Given the description of an element on the screen output the (x, y) to click on. 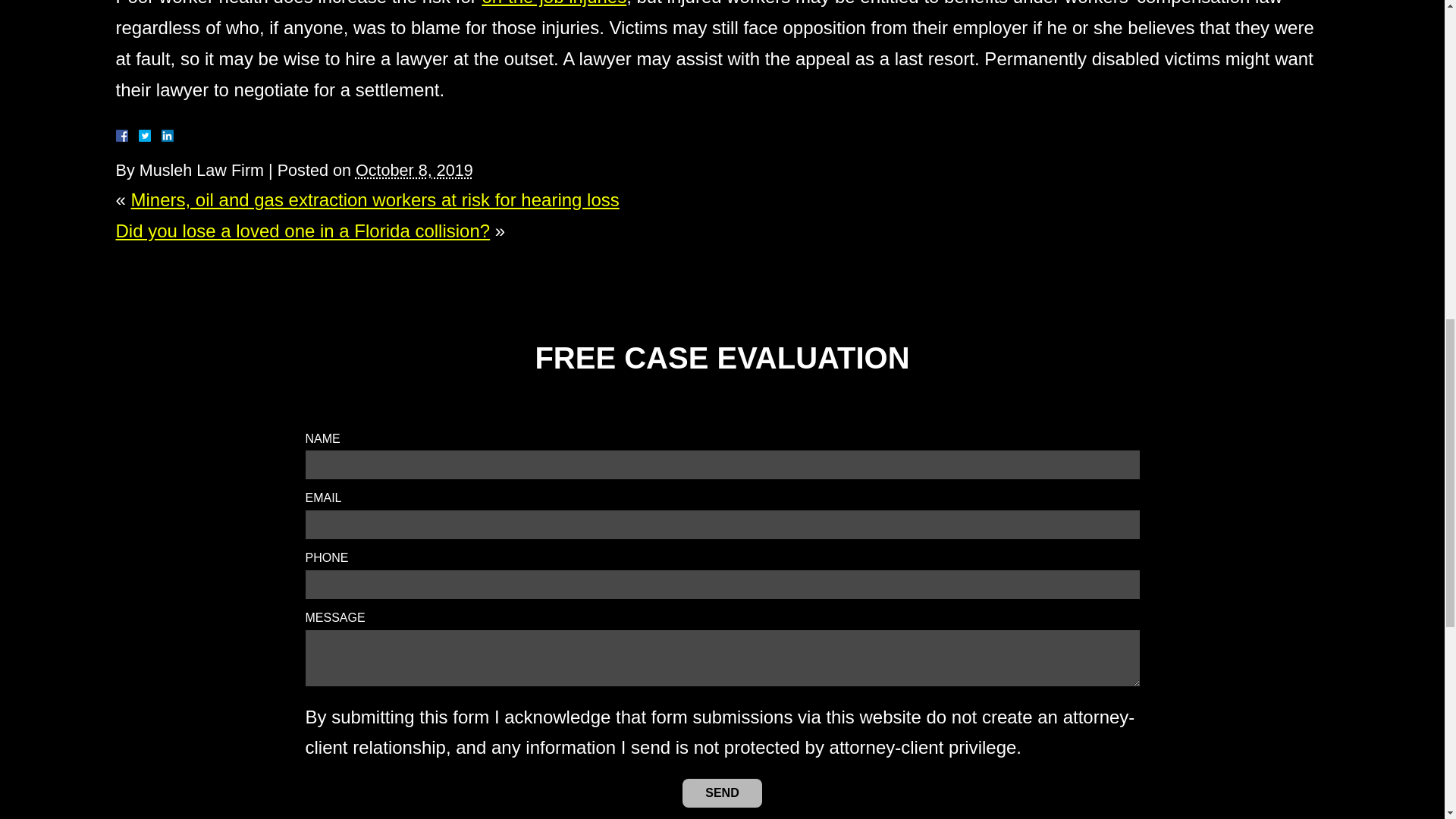
2019-10-08T00:00:00-0700 (414, 169)
Facebook (139, 135)
Twitter (149, 135)
LinkedIn (160, 135)
Send (721, 792)
